Given the description of an element on the screen output the (x, y) to click on. 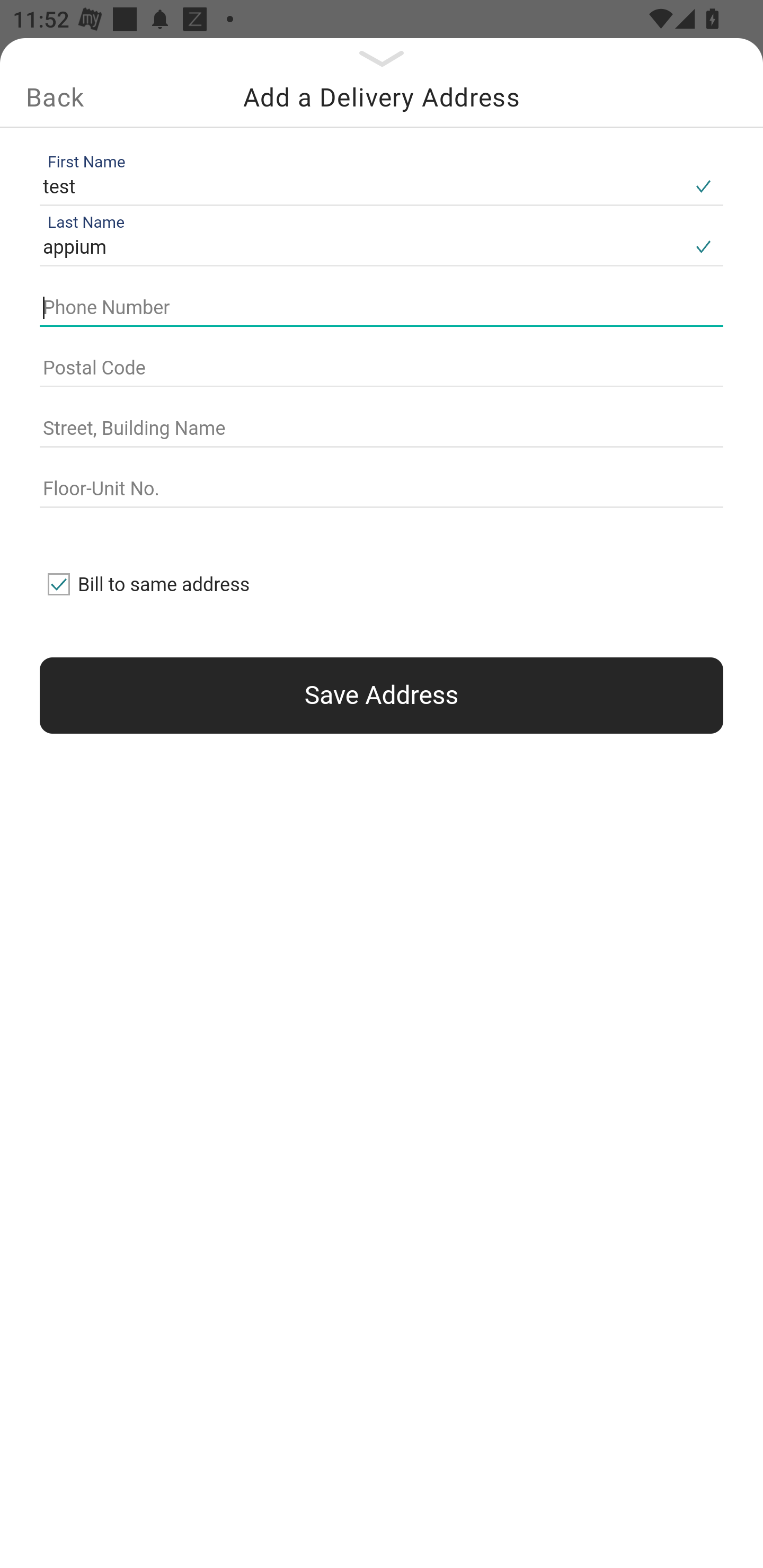
Back (54, 96)
Add a Delivery Address (381, 96)
test (361, 186)
appium (361, 247)
Save Address (381, 694)
